Given the description of an element on the screen output the (x, y) to click on. 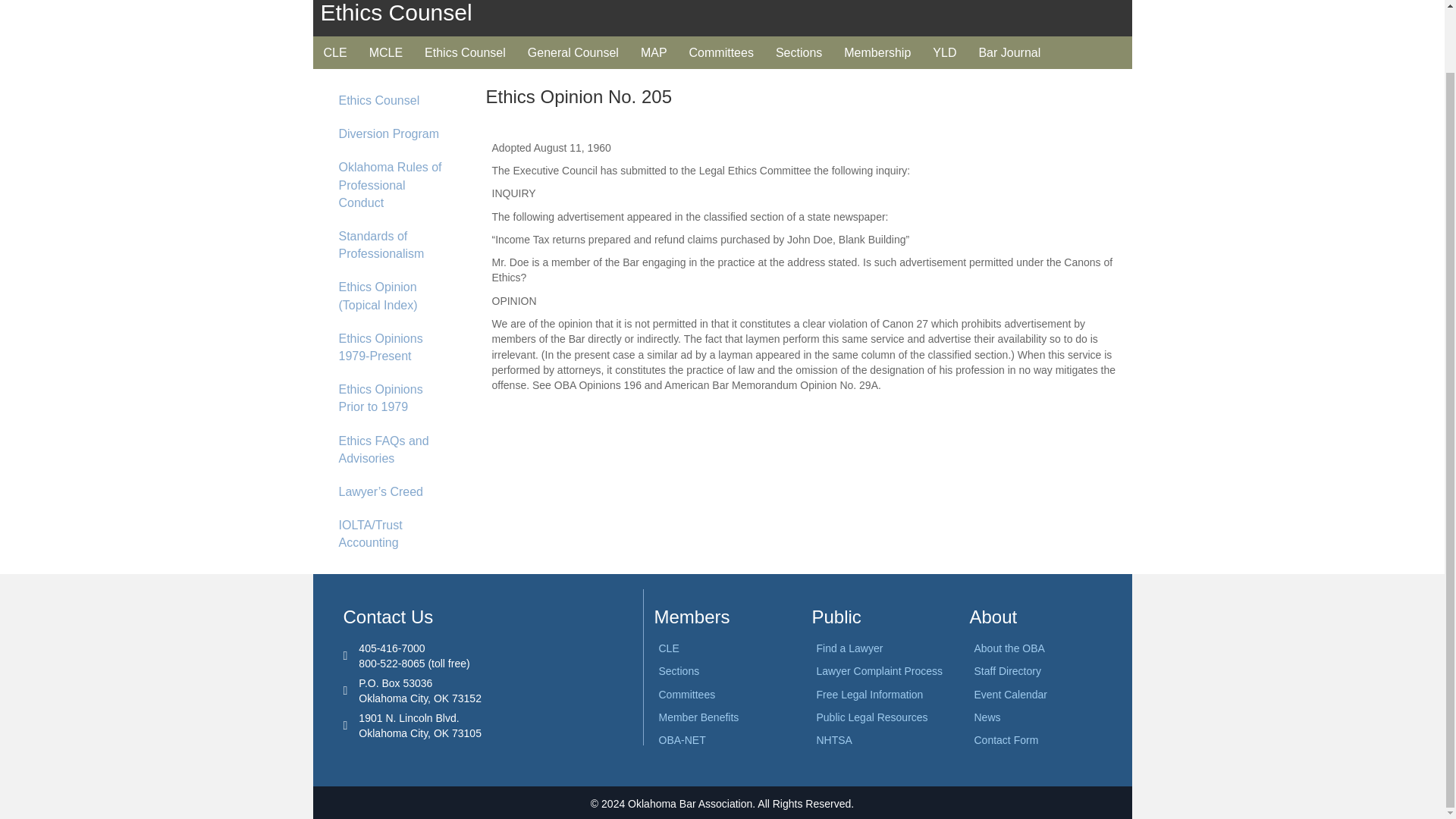
Find a Lawyer (848, 648)
Ethics Counsel (464, 52)
Ethics Opinions Prior to 1979 (394, 398)
Member Benefits (698, 717)
Committees (721, 52)
OBA-NET (681, 739)
Ethics Opinions 1979-Present (394, 347)
MCLE (385, 52)
General Counsel (572, 52)
Oklahoma Rules of Professional Conduct (394, 184)
